Given the description of an element on the screen output the (x, y) to click on. 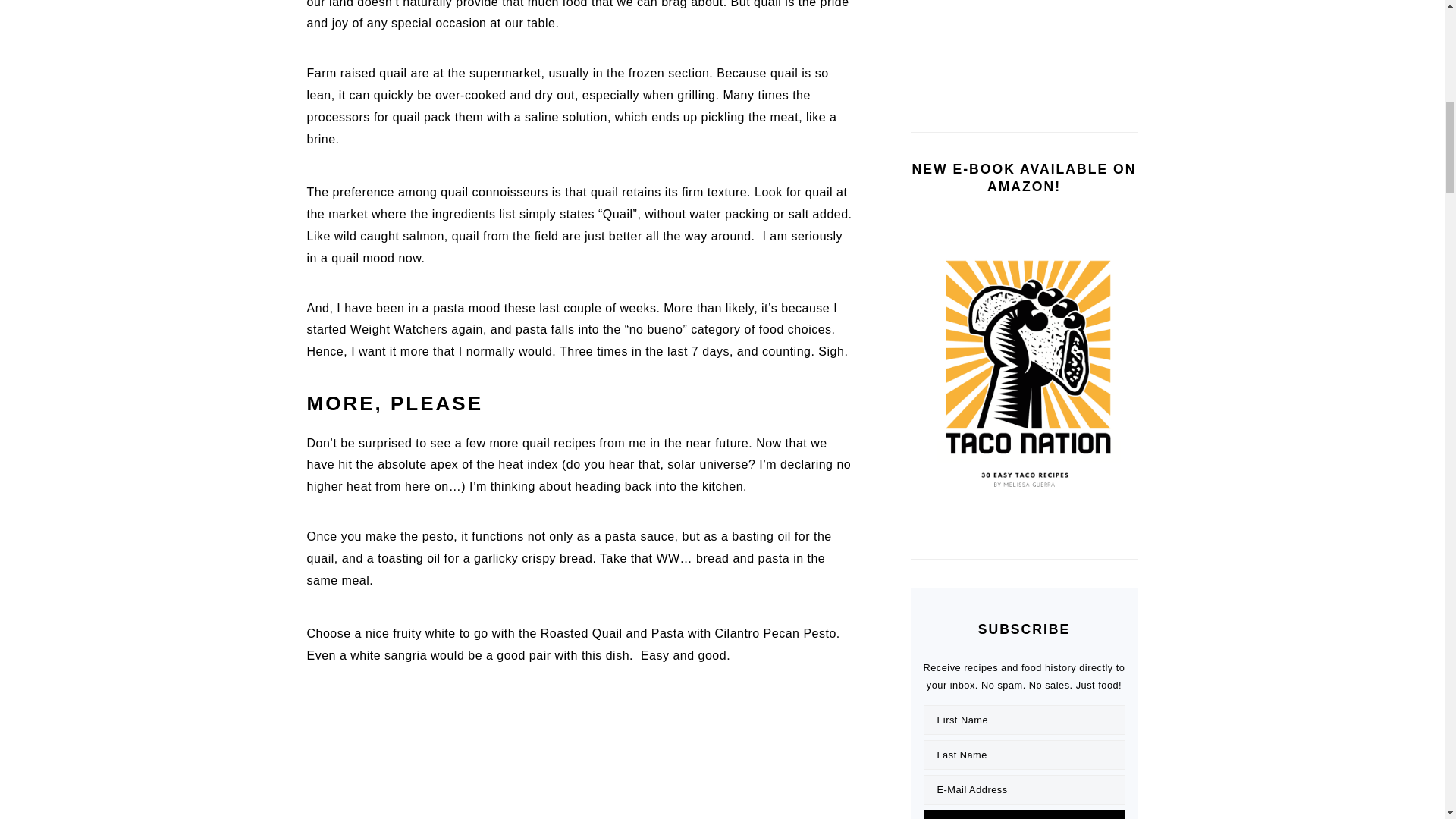
Submit (1024, 814)
